Given the description of an element on the screen output the (x, y) to click on. 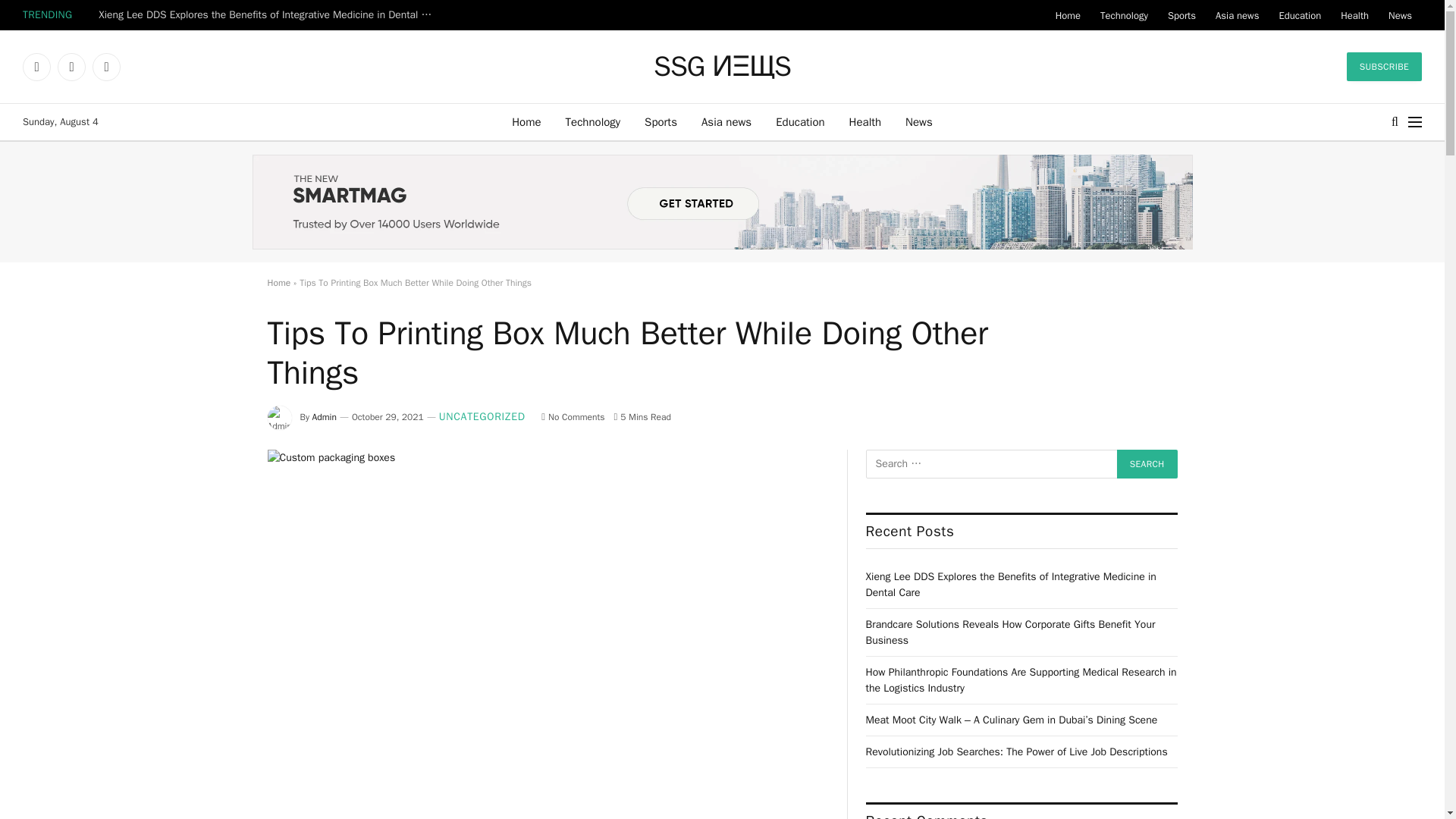
SUBSCRIBE (1384, 66)
Technology (1123, 15)
Instagram (106, 67)
News (918, 122)
Health (865, 122)
Sports (659, 122)
Asia news (725, 122)
Education (1299, 15)
Home (526, 122)
Search (1146, 463)
Technology (593, 122)
Search (1146, 463)
Home (1067, 15)
